Given the description of an element on the screen output the (x, y) to click on. 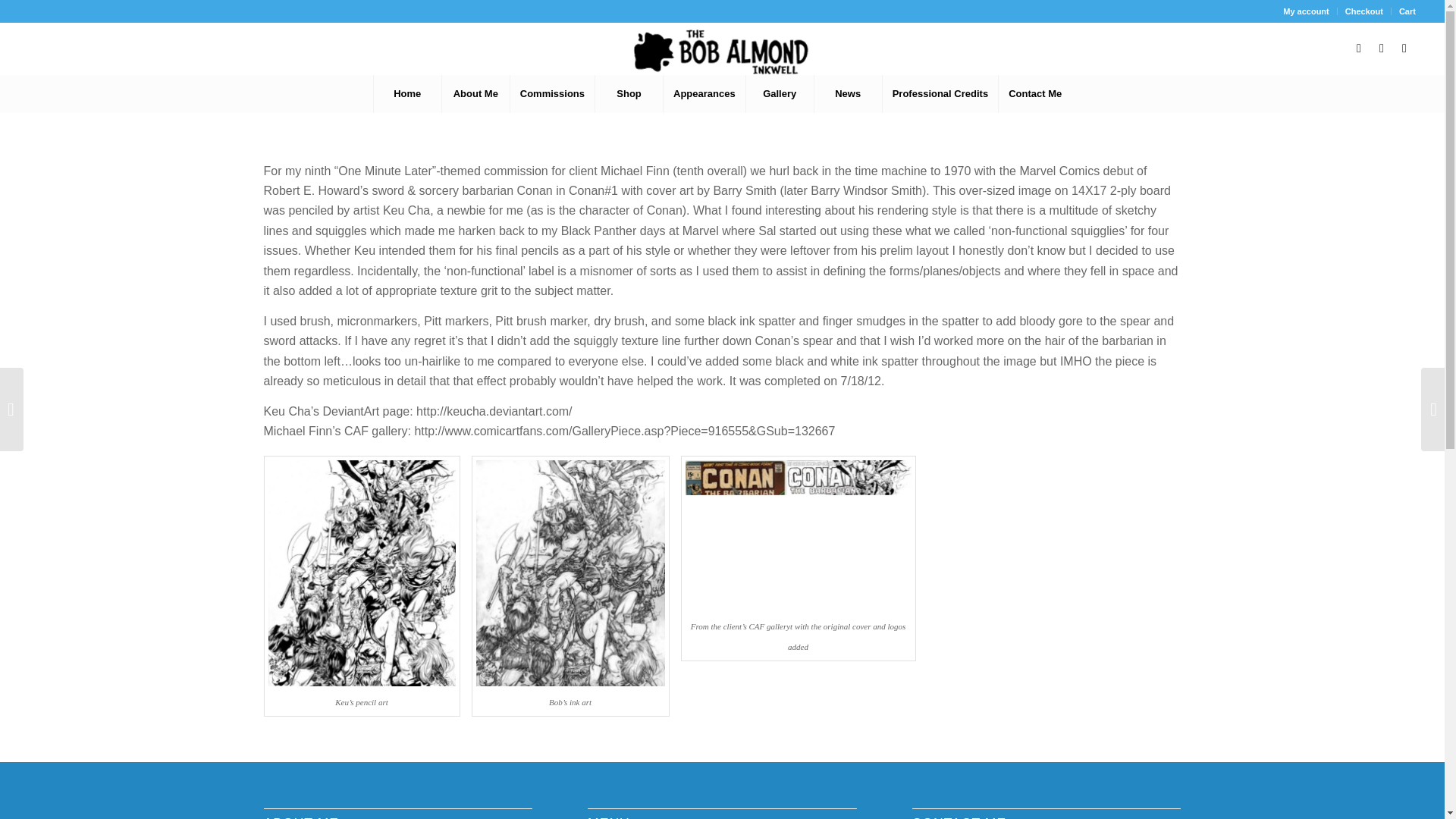
Shop (628, 94)
News (847, 94)
Checkout (1364, 11)
Bob's ink art (569, 573)
bob-almond-logo (721, 52)
Instagram (1404, 47)
Cart (1407, 11)
Contact Me (1034, 94)
Home (406, 94)
Commissions (551, 94)
Facebook (1359, 47)
About Me (475, 94)
Keu's pencil art (360, 573)
Appearances (703, 94)
